Given the description of an element on the screen output the (x, y) to click on. 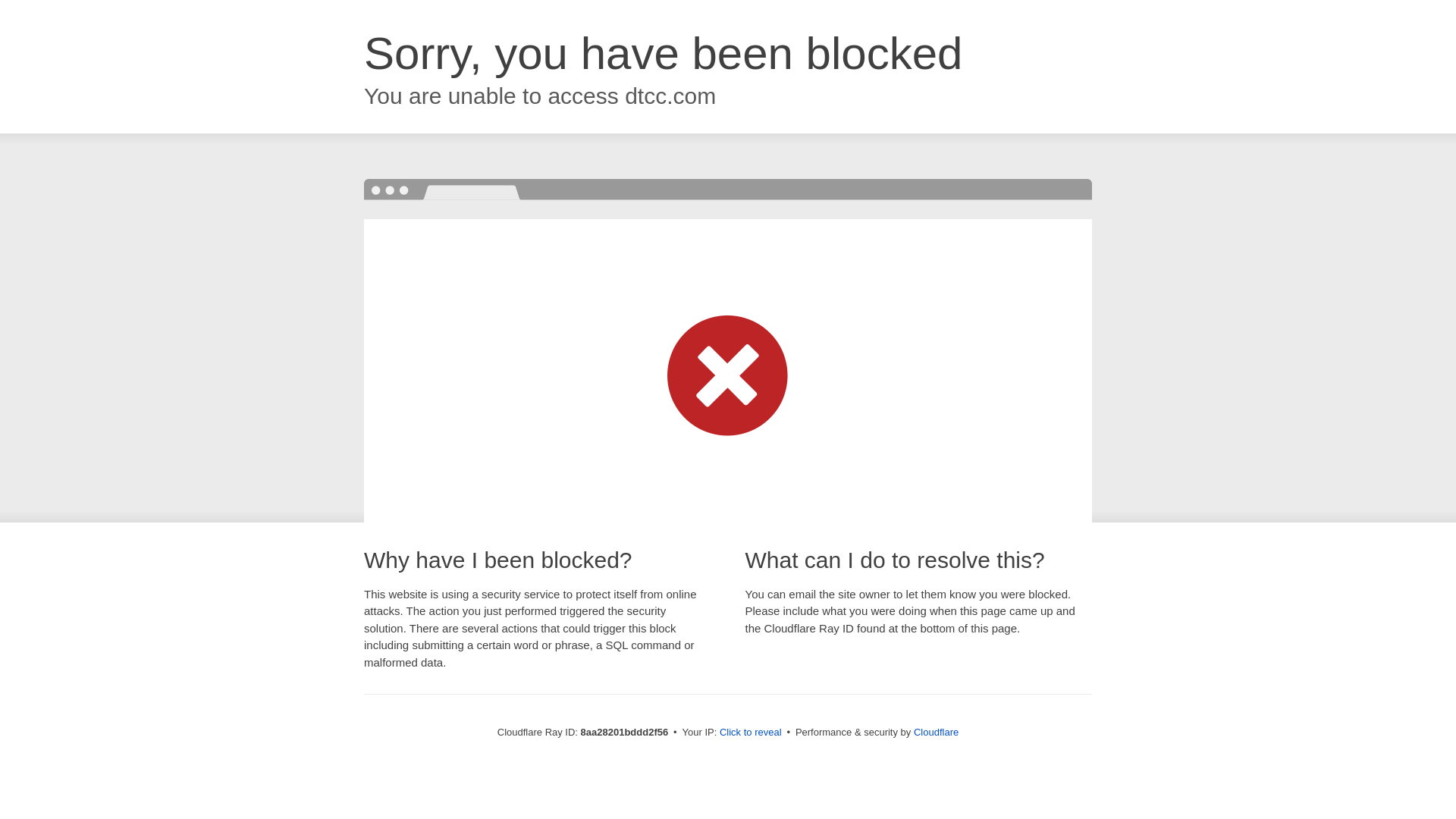
Click to reveal (750, 732)
Cloudflare (936, 731)
